Given the description of an element on the screen output the (x, y) to click on. 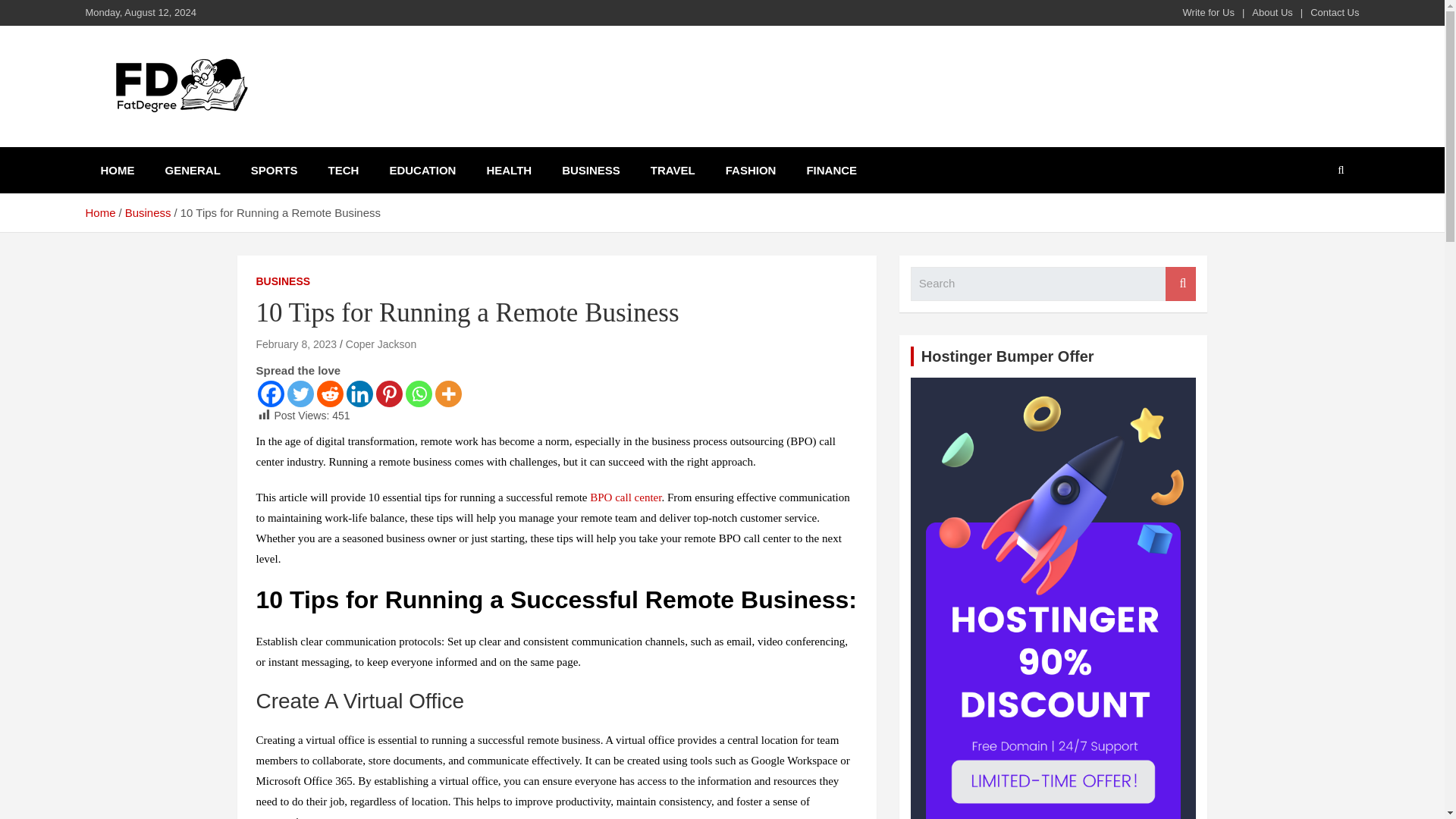
BPO call center (625, 497)
February 8, 2023 (296, 344)
FINANCE (831, 170)
Linkedin (359, 393)
Coper Jackson (381, 344)
Business (148, 212)
HOME (116, 170)
TECH (343, 170)
Twitter (299, 393)
Contact Us (1334, 12)
